Given the description of an element on the screen output the (x, y) to click on. 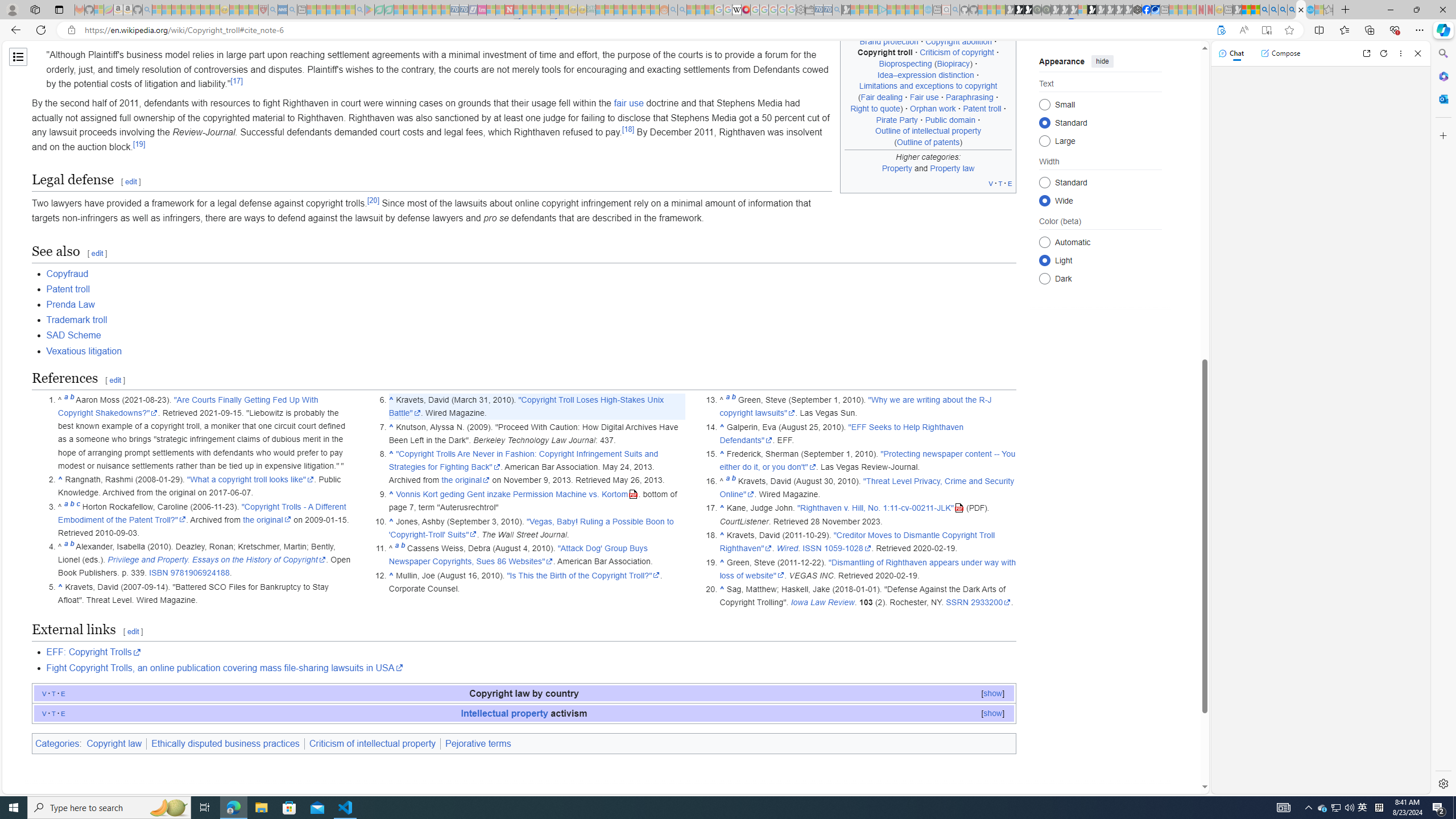
Prenda Law (531, 304)
Iowa Law Review (822, 602)
"Righthaven v. Hill, No. 1:11-cv-00211-JLK" (879, 507)
"What a copyright troll looks like" (250, 479)
Class: mw-list-item mw-list-item-js (1100, 259)
Expert Portfolios - Sleeping (627, 9)
[19] (138, 143)
